Given the description of an element on the screen output the (x, y) to click on. 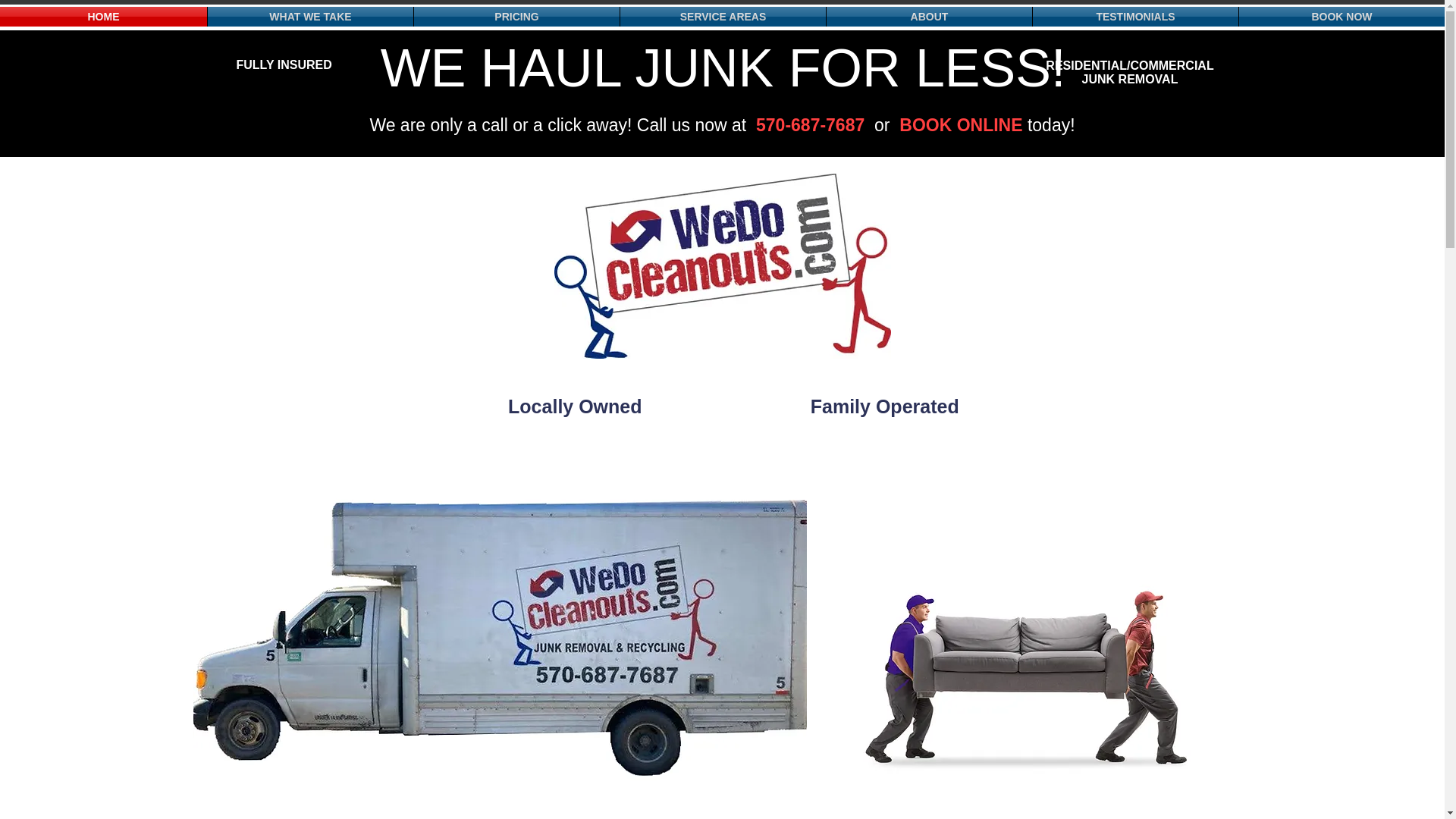
WHAT WE TAKE (310, 16)
HOME (103, 16)
WeDoCleanoutsFINAL.jpg (721, 265)
TESTIMONIALS (1135, 16)
BOOK ONLINE (963, 125)
PRICING (516, 16)
SERVICE AREAS (722, 16)
570-687-7687 (809, 125)
